Given the description of an element on the screen output the (x, y) to click on. 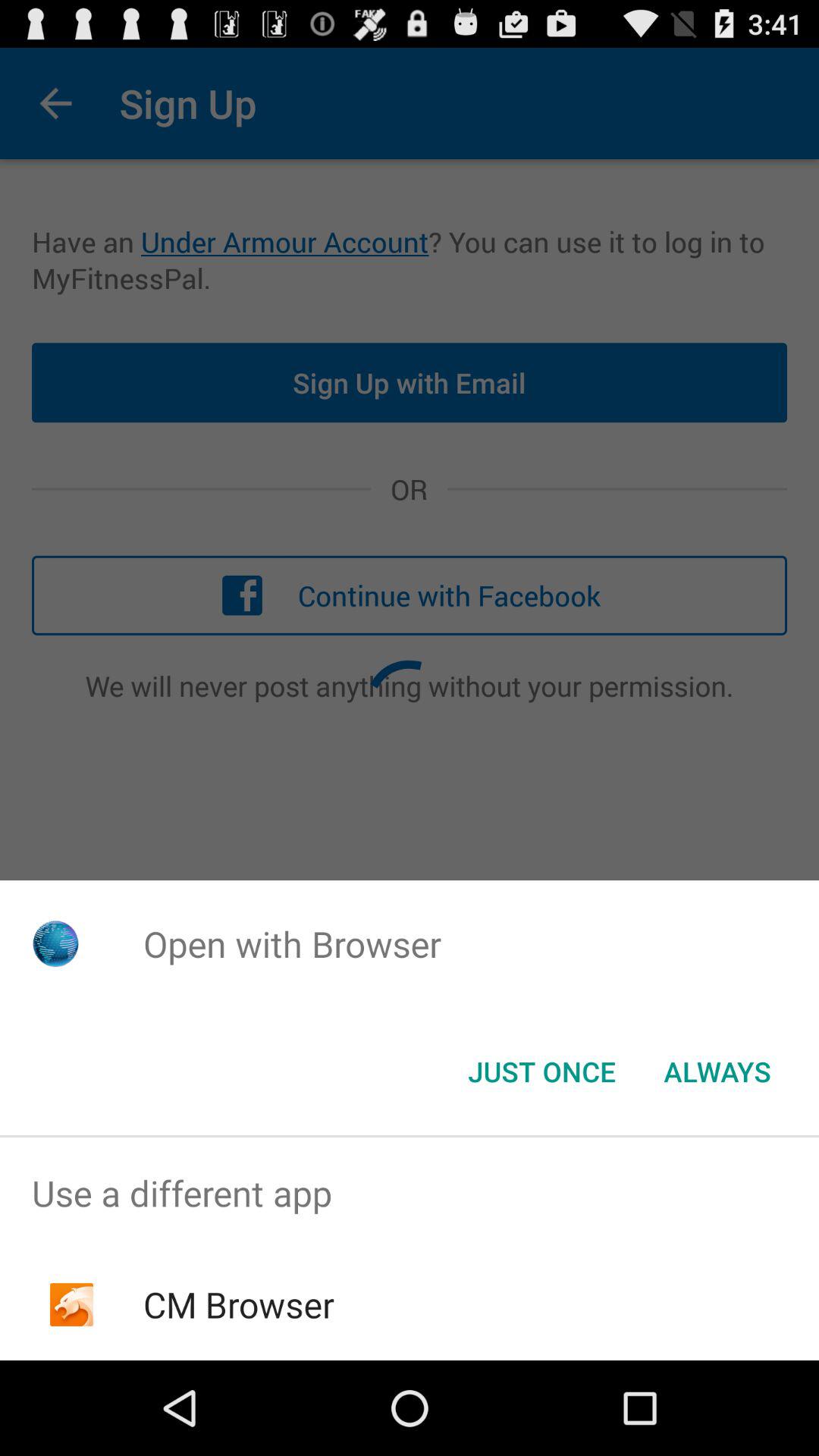
select the always icon (717, 1071)
